Given the description of an element on the screen output the (x, y) to click on. 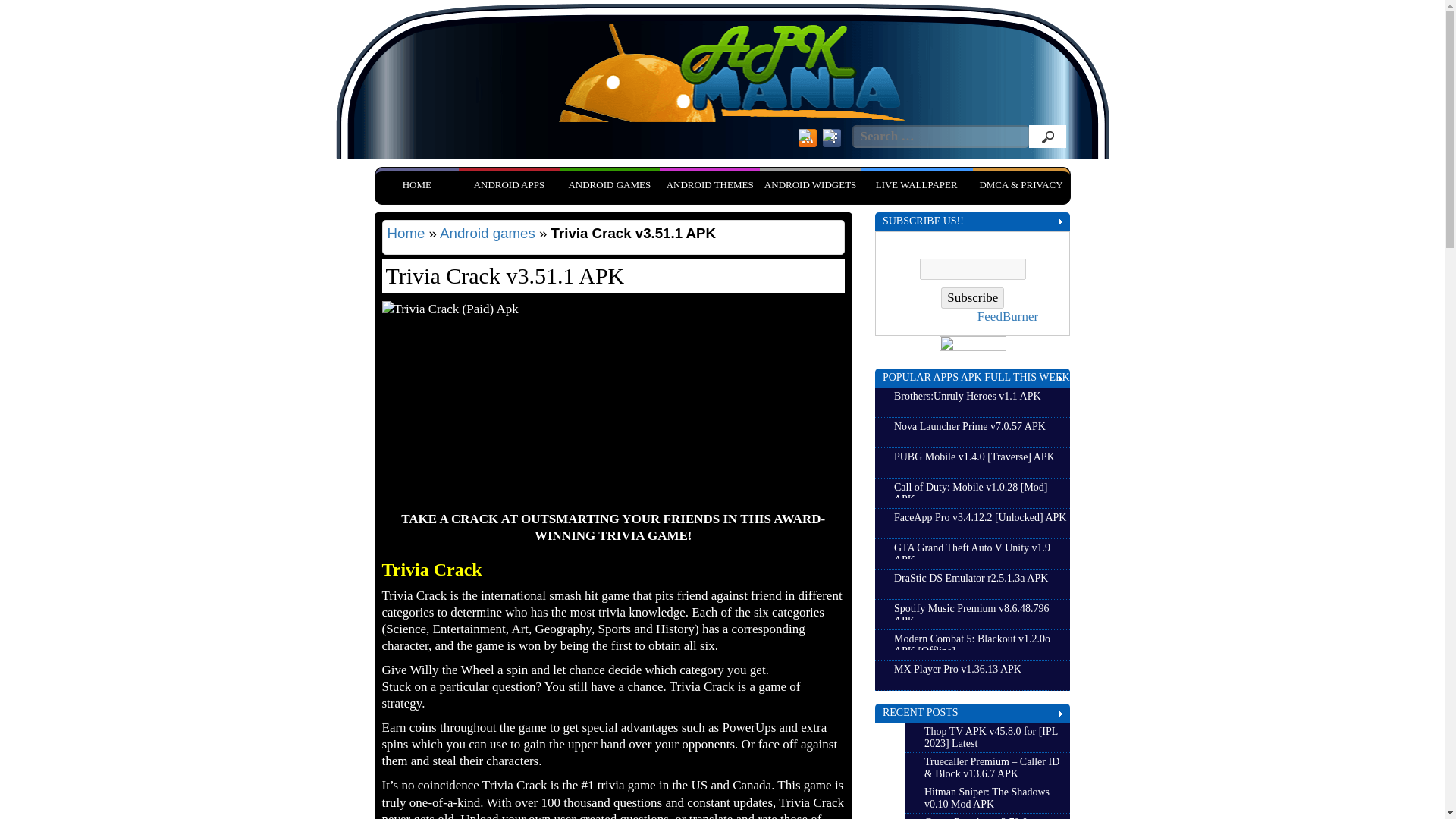
Subscribe (972, 297)
Search for: (940, 136)
ANDROID GAMES (609, 183)
Nova Launcher Prime v7.0.57 APK (981, 428)
Rss Feed (806, 137)
Home (406, 232)
FeedBurner (1007, 316)
Spotify Music Premium v8.6.48.796 APK (981, 610)
Live Wallpaper (916, 183)
DraStic DS Emulator r2.5.1.3a APK (981, 580)
Android Apps (508, 183)
Follow me on Facebook (831, 137)
Android games (609, 183)
ANDROID THEMES (709, 183)
ANDROID APPS (508, 183)
